Given the description of an element on the screen output the (x, y) to click on. 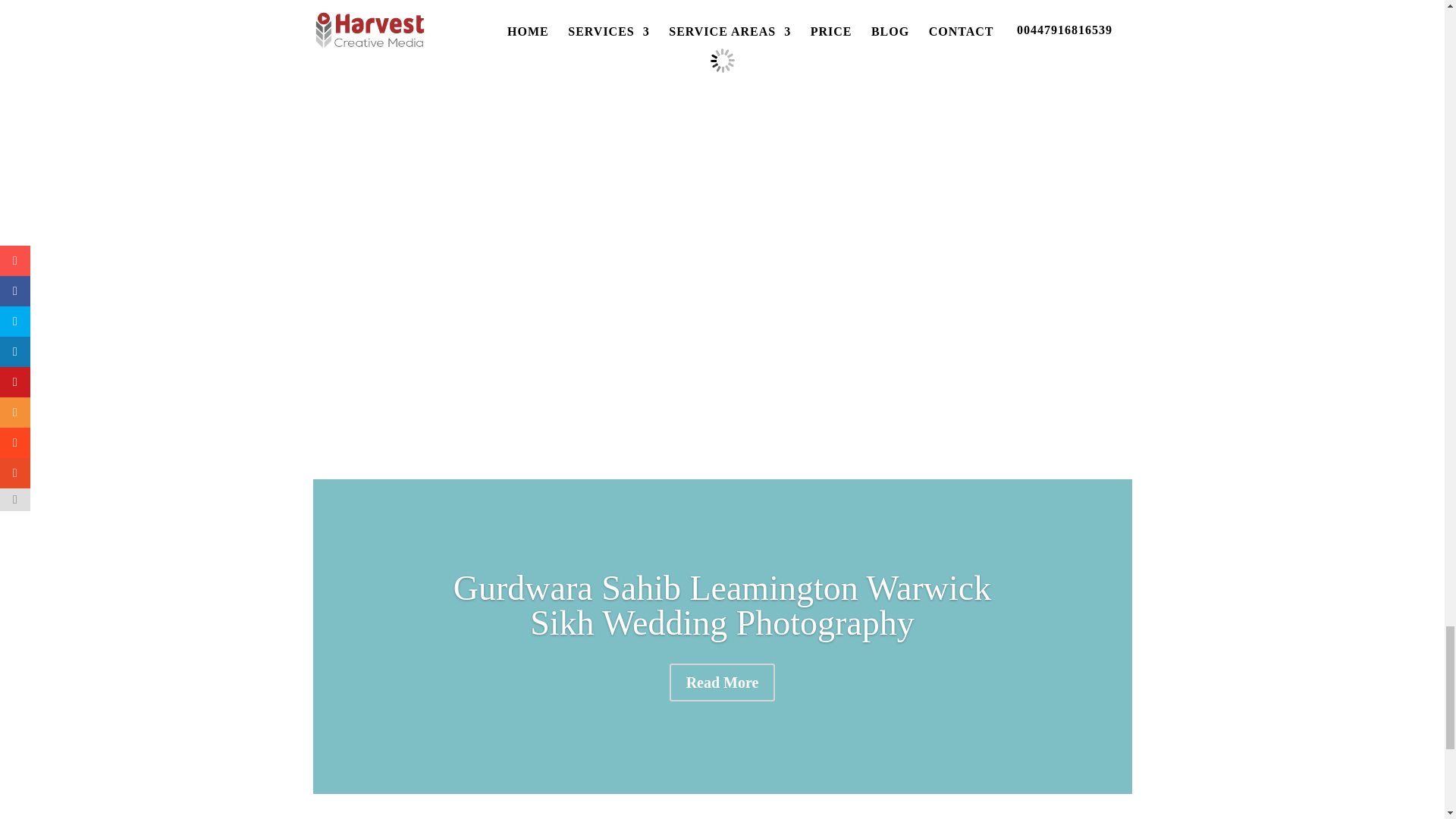
Read More (722, 682)
Gurdwara Sahib Leamington Warwick Sikh Wedding Photography (721, 605)
